Given the description of an element on the screen output the (x, y) to click on. 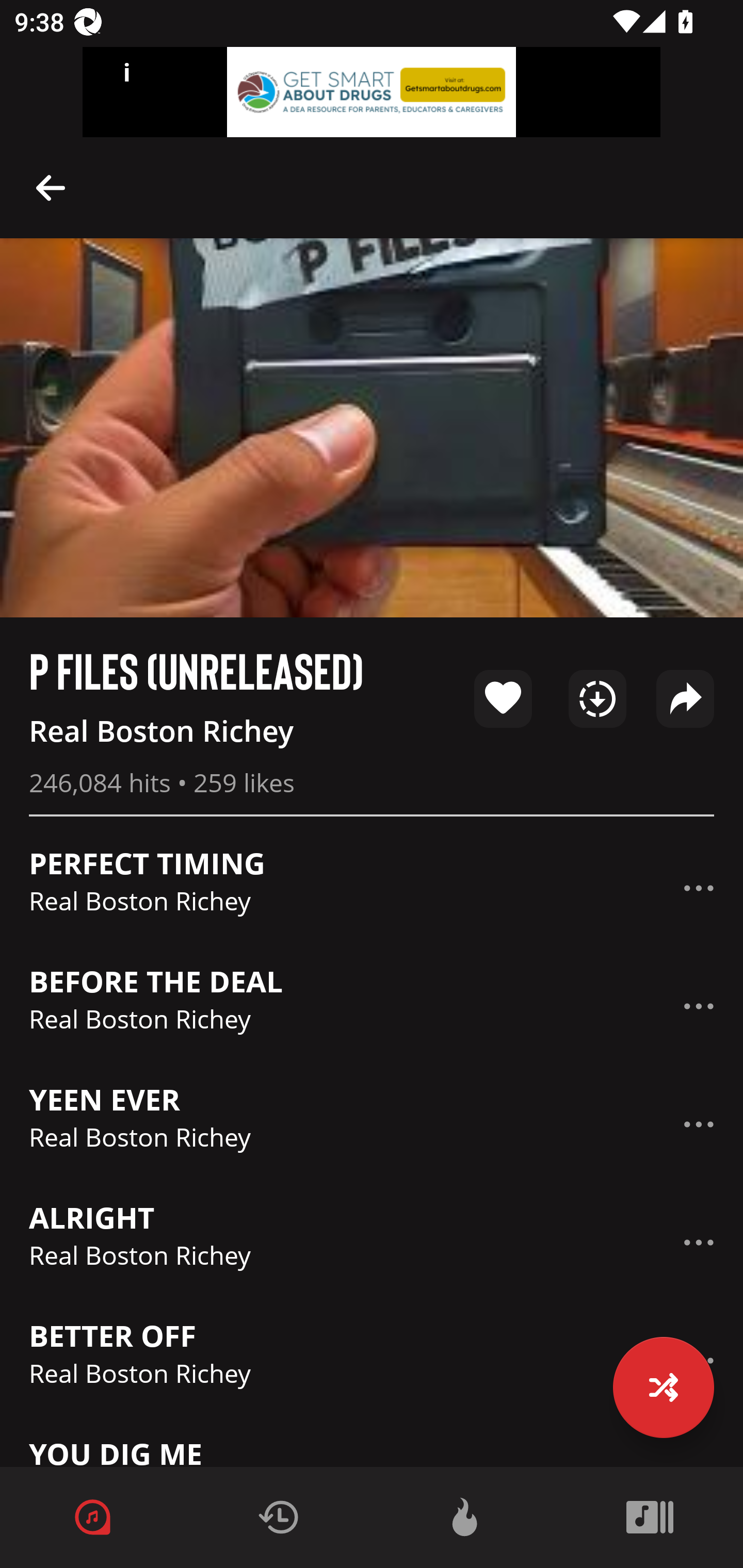
Description (50, 187)
PERFECT TIMING Real Boston Richey Description (371, 888)
Description (698, 888)
BEFORE THE DEAL Real Boston Richey Description (371, 1005)
Description (698, 1005)
YEEN EVER Real Boston Richey Description (371, 1123)
Description (698, 1124)
ALRIGHT Real Boston Richey Description (371, 1242)
Description (698, 1242)
BETTER OFF Real Boston Richey Description (371, 1360)
